Given the description of an element on the screen output the (x, y) to click on. 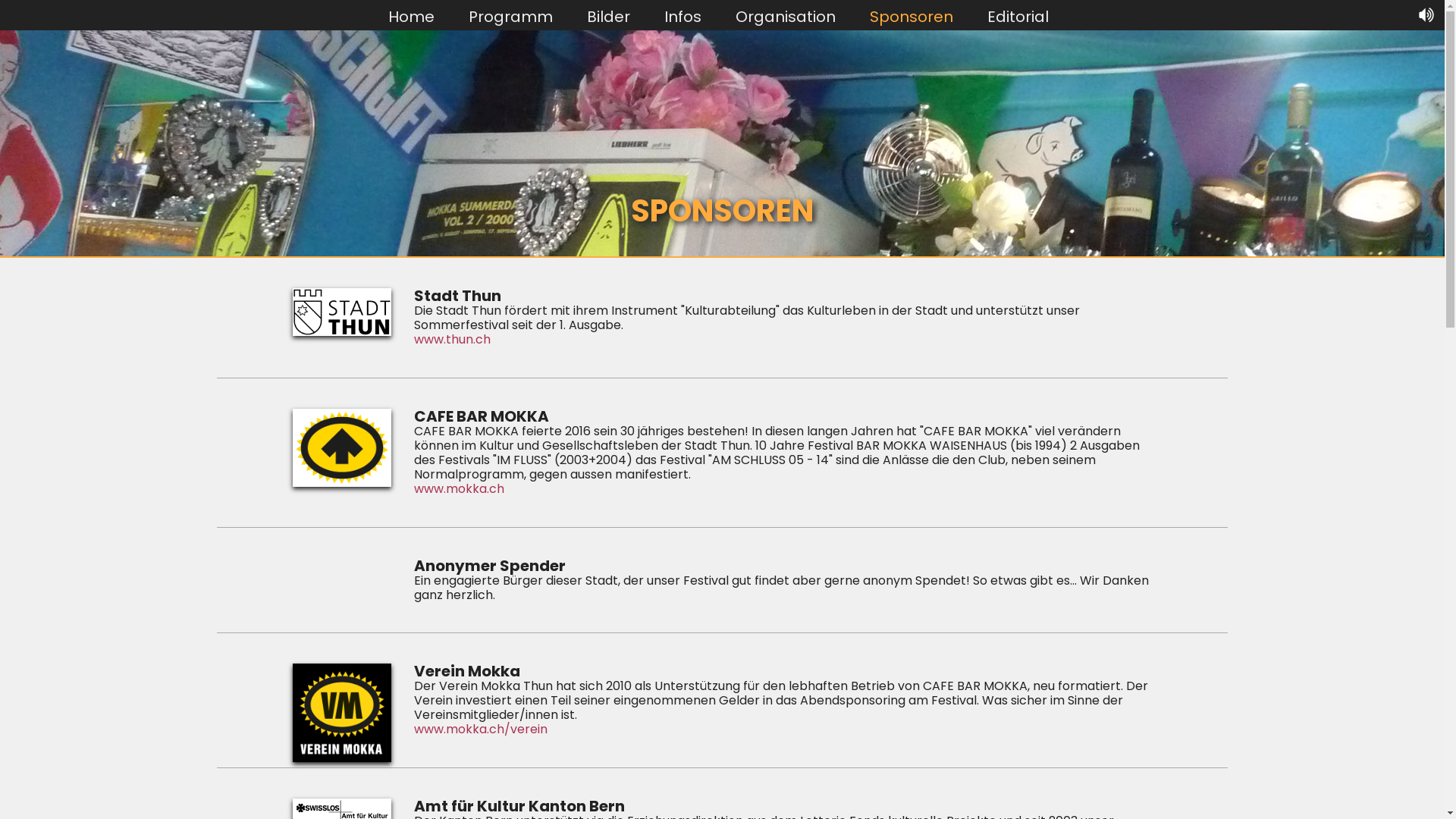
www.mokka.ch Element type: text (783, 488)
Organisation Element type: text (785, 15)
Infos Element type: text (682, 15)
Home Element type: text (411, 15)
www.mokka.ch/verein Element type: text (783, 728)
Sponsoren Element type: text (911, 15)
www.thun.ch Element type: text (783, 339)
Programm Element type: text (510, 15)
Editorial Element type: text (1017, 15)
Bilder Element type: text (608, 15)
